Given the description of an element on the screen output the (x, y) to click on. 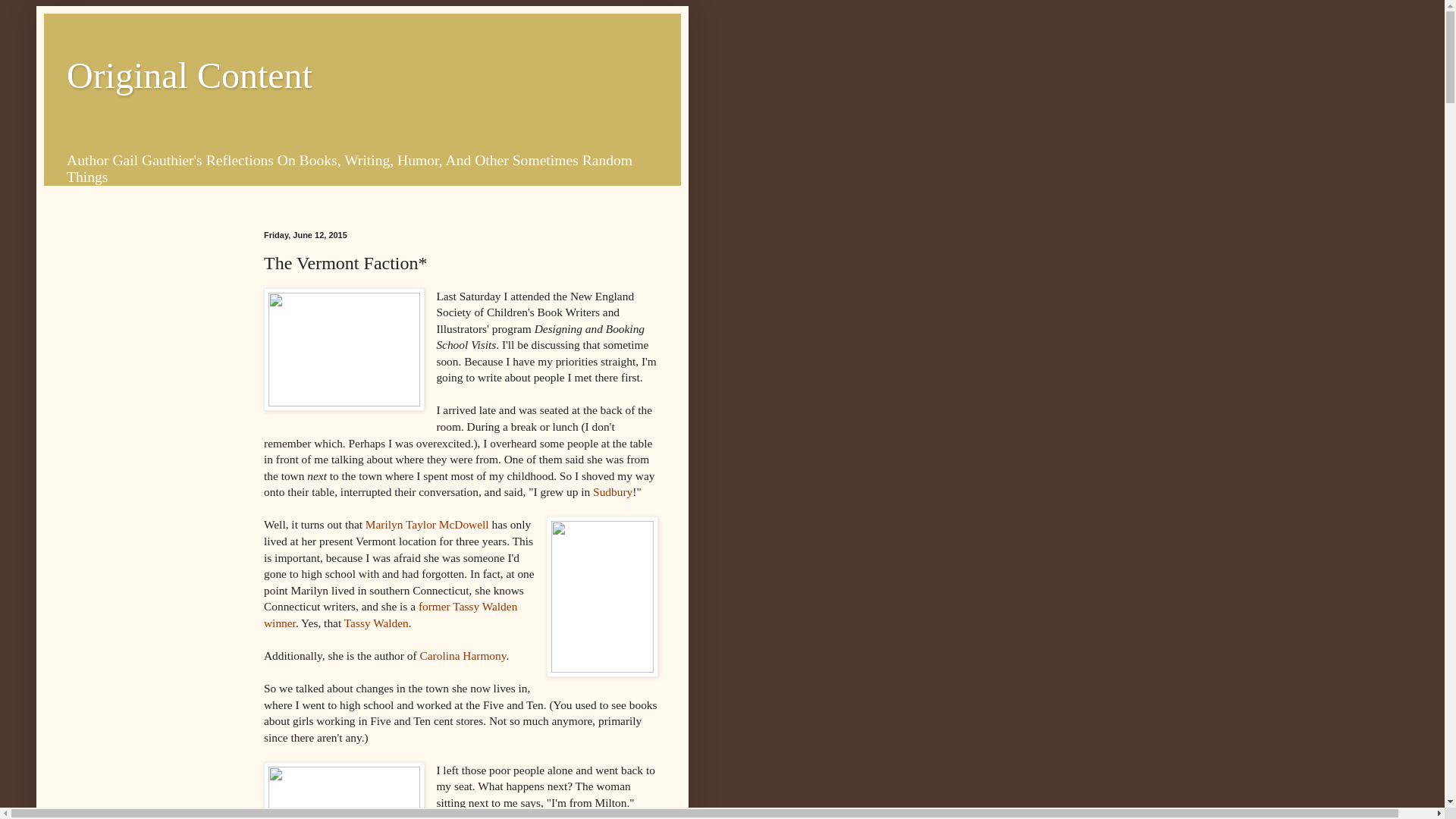
Sudbury (611, 491)
Tassy Walden (376, 622)
Original Content (189, 75)
Marilyn Taylor McDowell (427, 523)
former Tassy Walden winner (389, 614)
Carolina Harmony (462, 655)
